Given the description of an element on the screen output the (x, y) to click on. 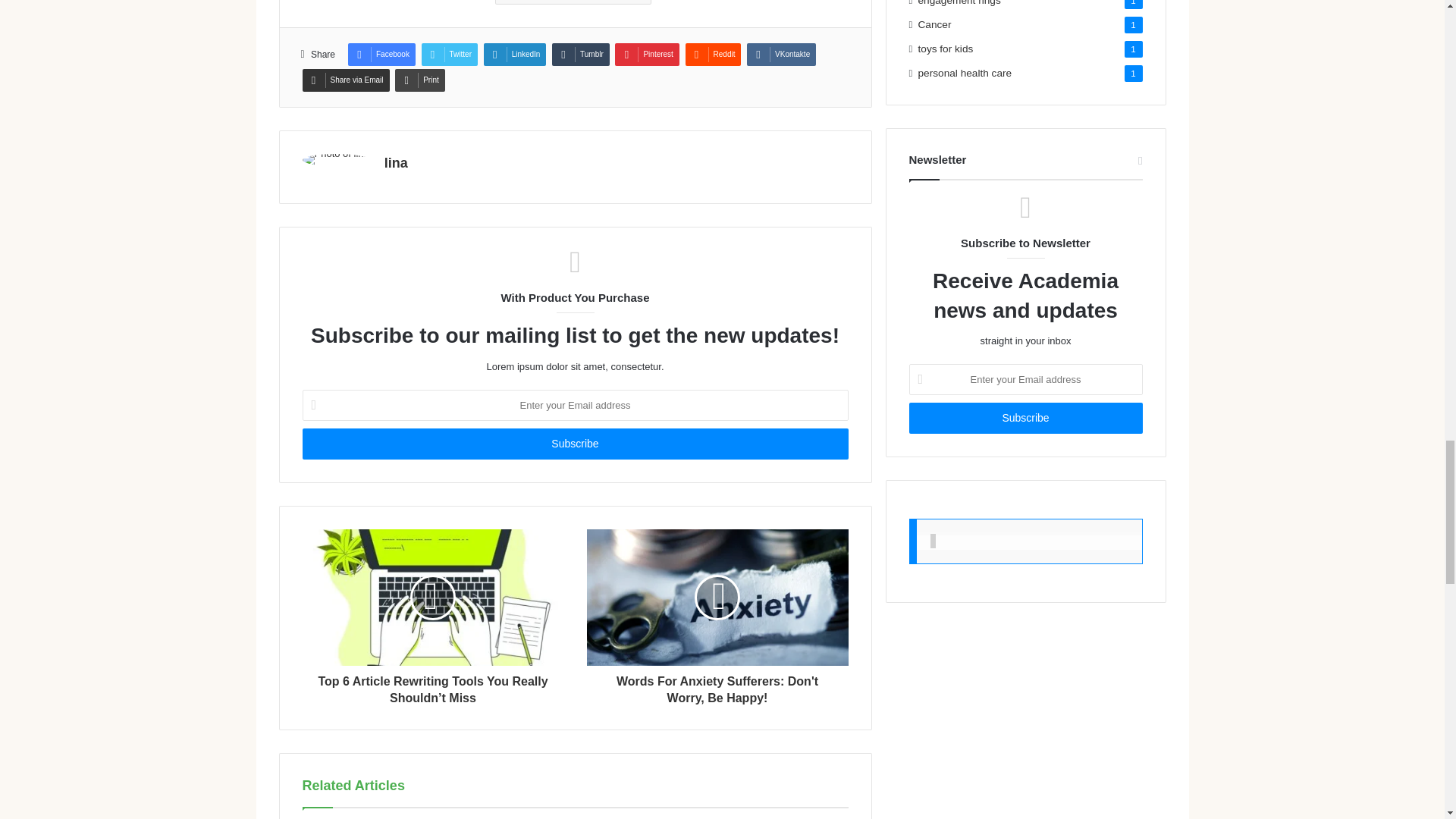
Subscribe (1025, 418)
Reddit (713, 54)
Tumblr (580, 54)
Pinterest (646, 54)
Twitter (449, 54)
LinkedIn (515, 54)
LinkedIn (515, 54)
Facebook (380, 54)
Facebook (380, 54)
Subscribe (574, 443)
